Given the description of an element on the screen output the (x, y) to click on. 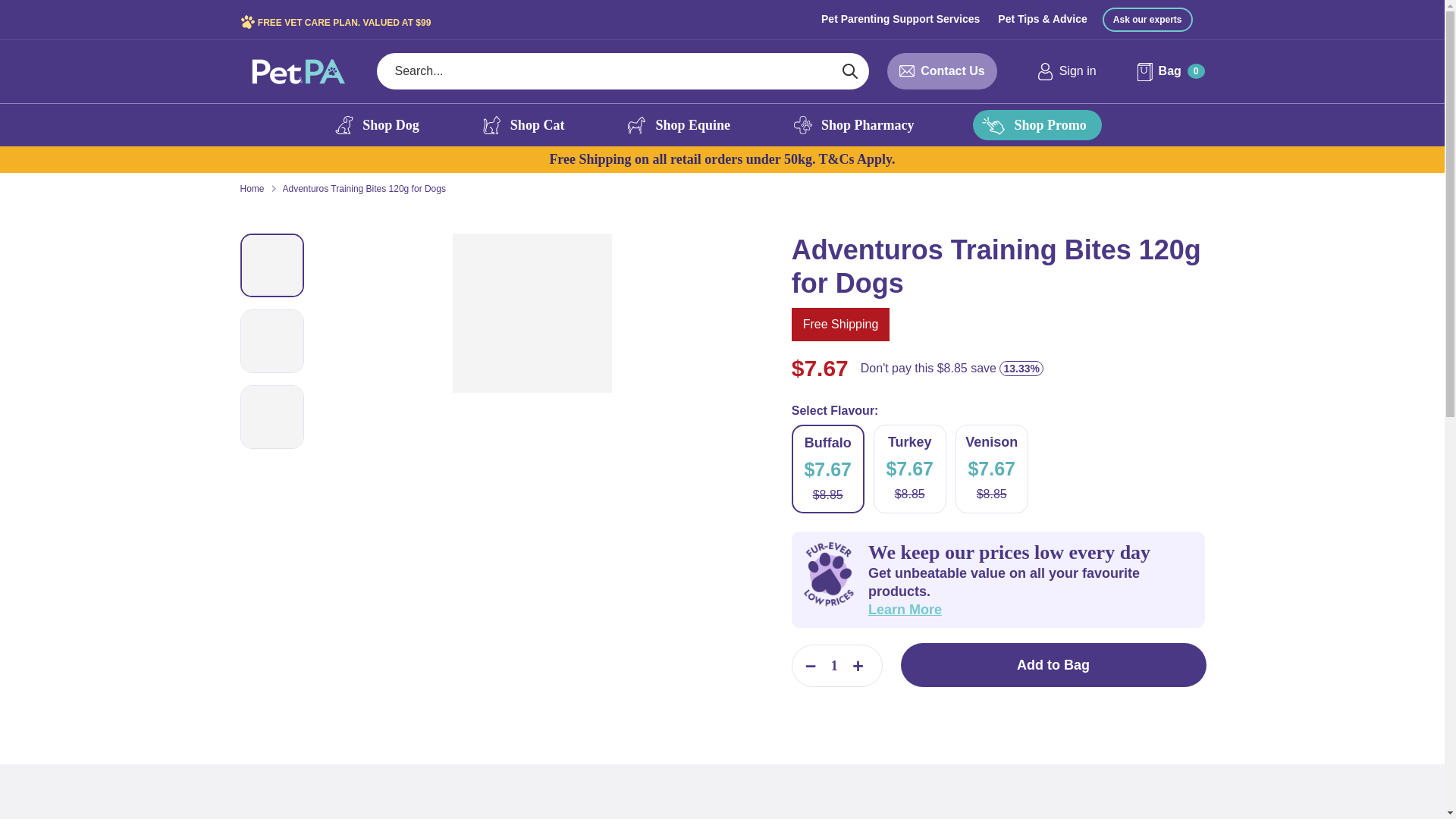
Pet Parenting Support Services (900, 18)
Contact Us (952, 71)
Sign in (1067, 71)
Ask our experts (1147, 19)
